Given the description of an element on the screen output the (x, y) to click on. 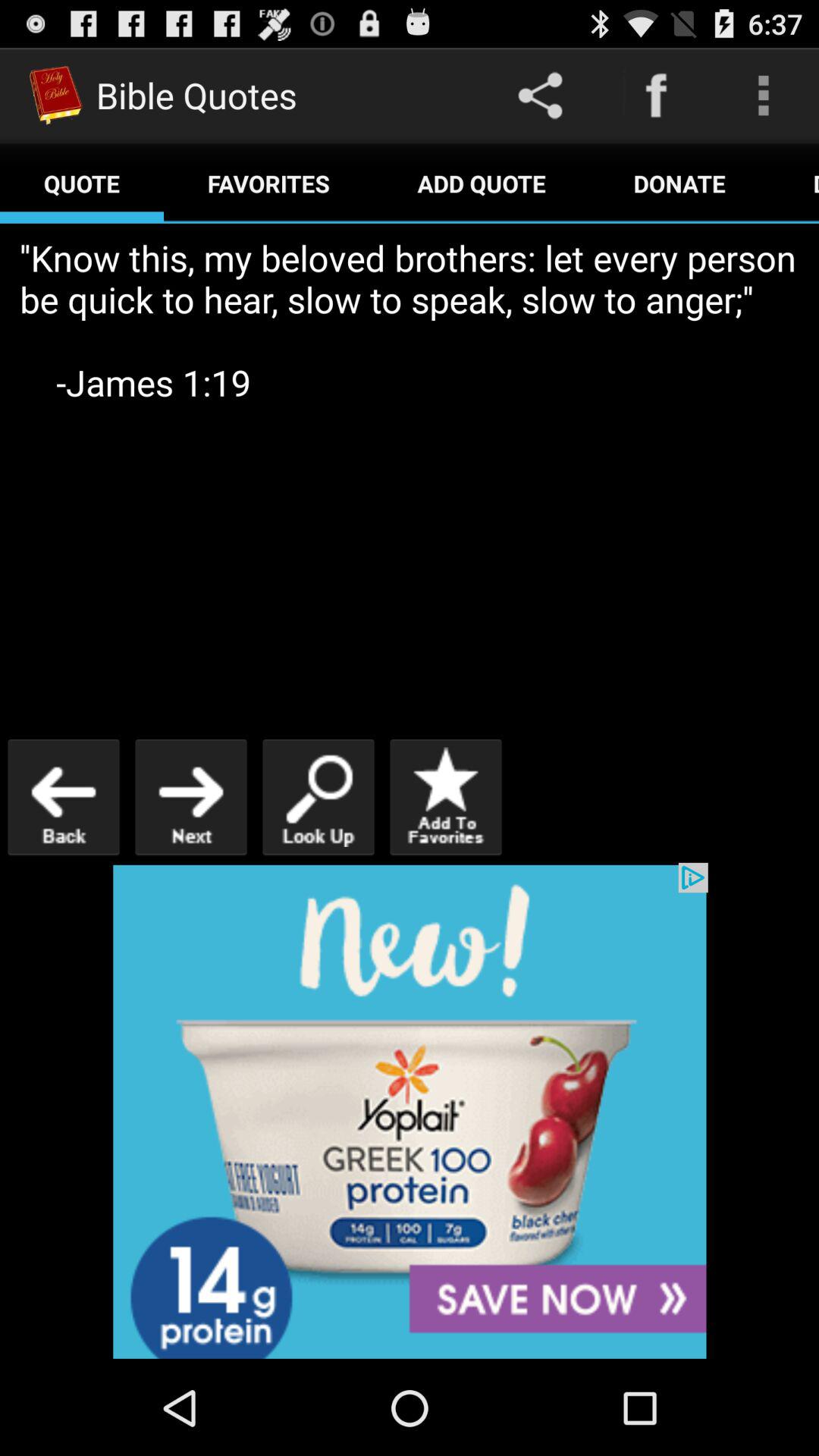
search for a quote (318, 796)
